Given the description of an element on the screen output the (x, y) to click on. 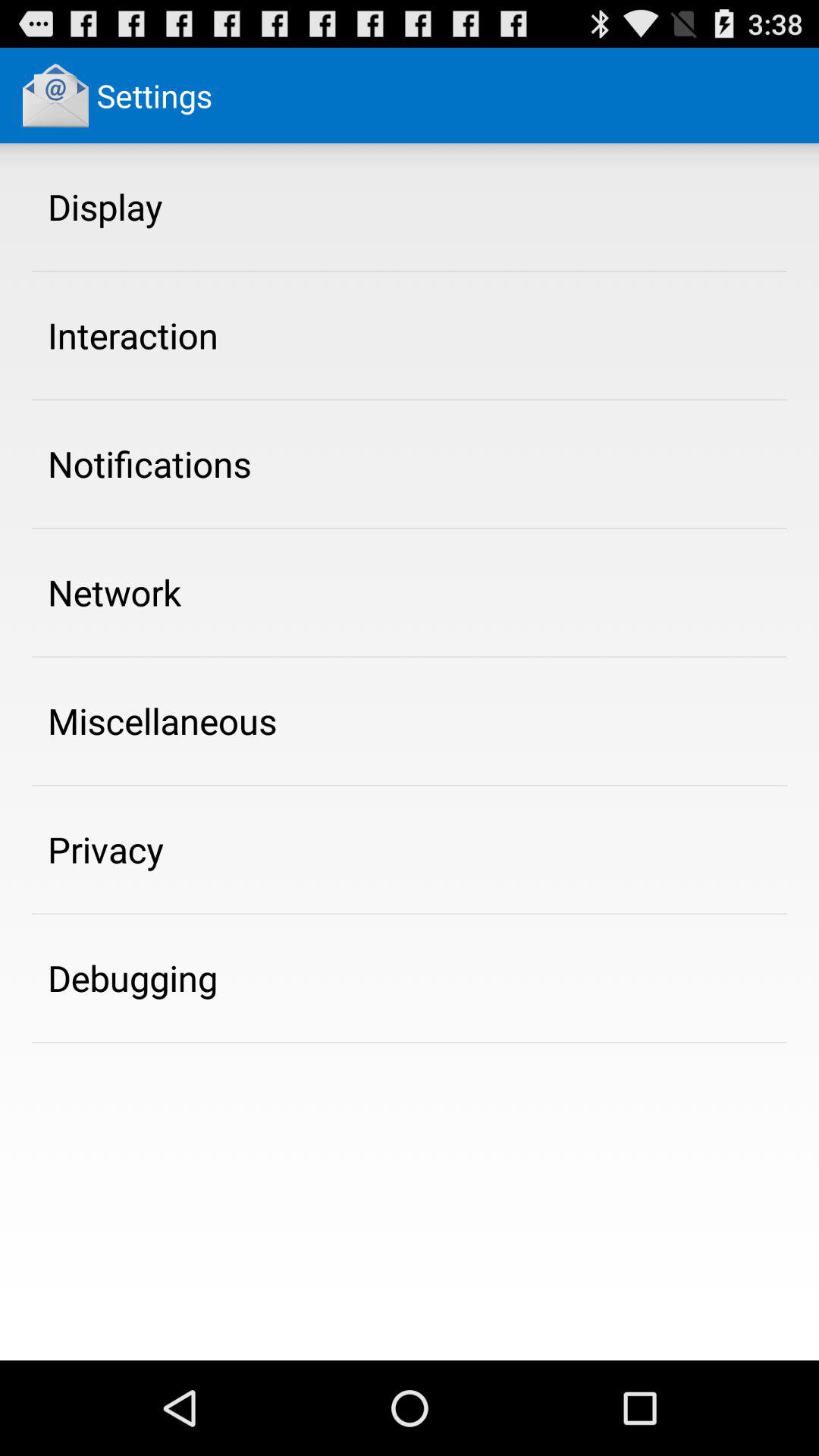
scroll to miscellaneous icon (161, 720)
